Given the description of an element on the screen output the (x, y) to click on. 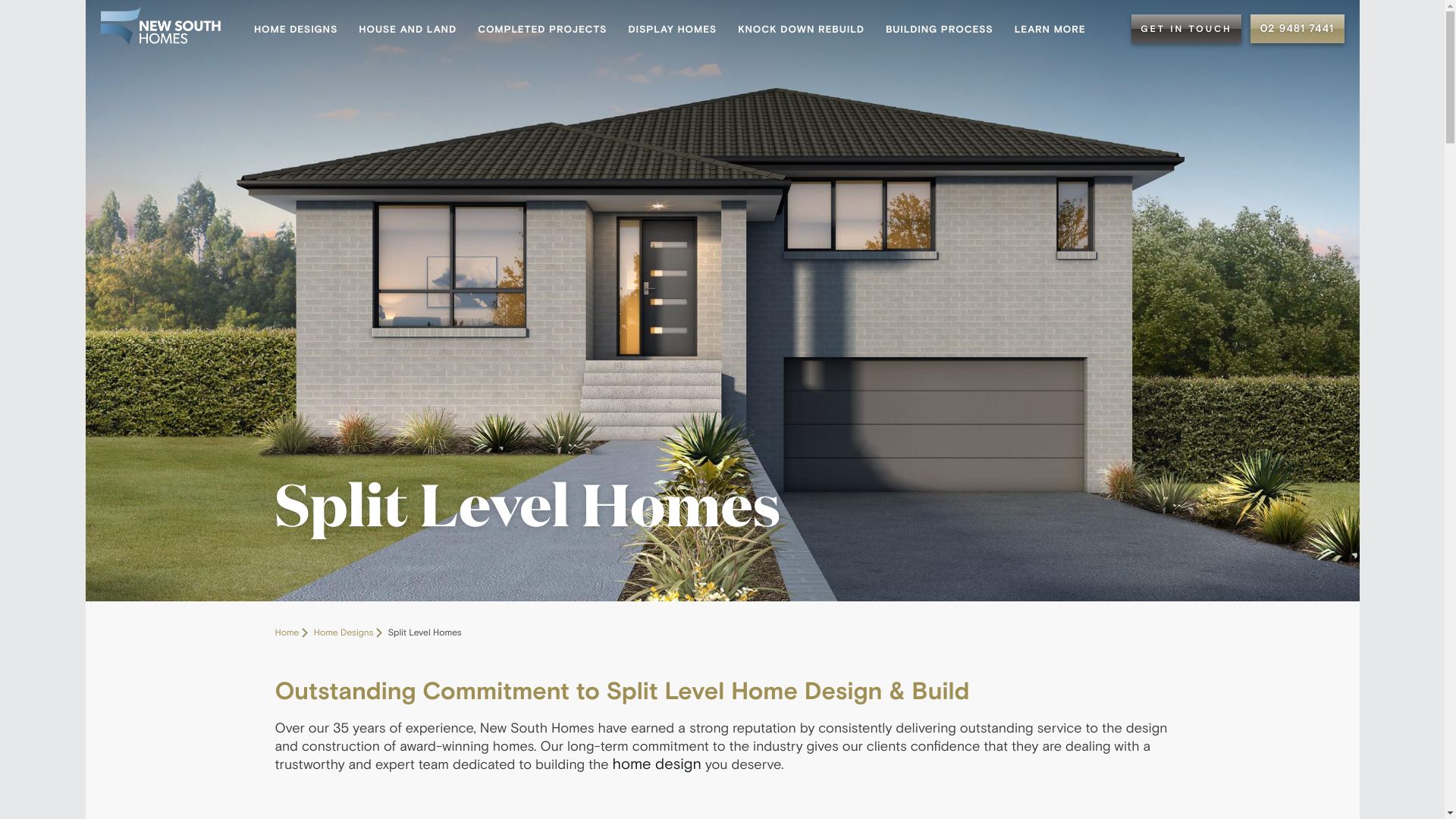
GET IN TOUCH Element type: text (1185, 28)
KNOCK DOWN REBUILD Element type: text (800, 28)
home design Element type: text (656, 764)
LEARN MORE Element type: text (1049, 28)
Home Designs Element type: text (349, 631)
BUILDING PROCESS Element type: text (939, 28)
COMPLETED PROJECTS Element type: text (541, 28)
02 9481 7441 Element type: text (1296, 28)
Home Element type: text (292, 631)
HOME DESIGNS Element type: text (295, 28)
HOUSE AND LAND Element type: text (407, 28)
DISPLAY HOMES Element type: text (671, 28)
